Given the description of an element on the screen output the (x, y) to click on. 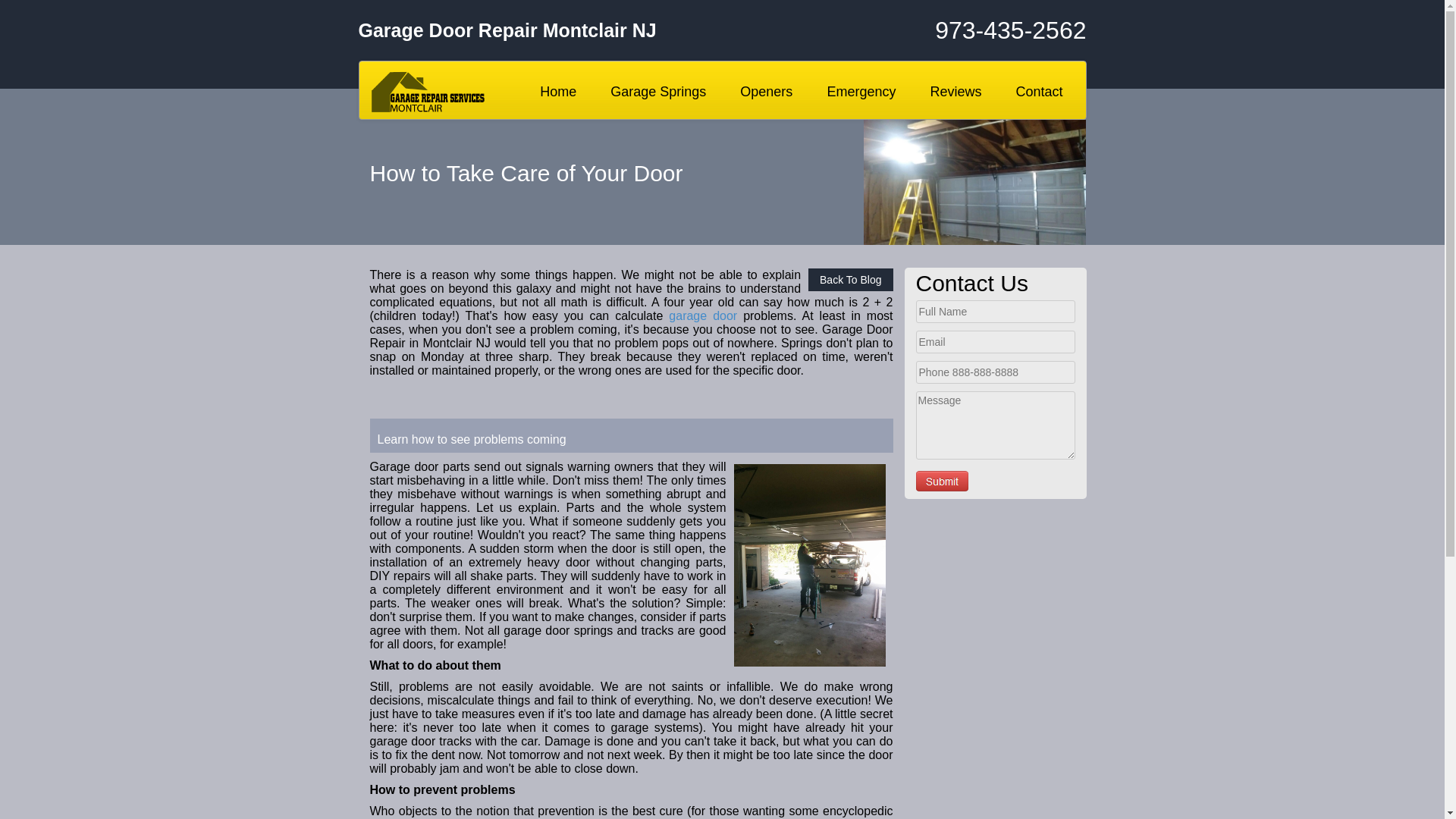
Home (558, 91)
Openers (766, 91)
garage door (702, 315)
Garage Springs (657, 91)
Reviews (955, 91)
Back To Blog (850, 279)
Contact (1039, 91)
973-435-2562 (964, 30)
